Given the description of an element on the screen output the (x, y) to click on. 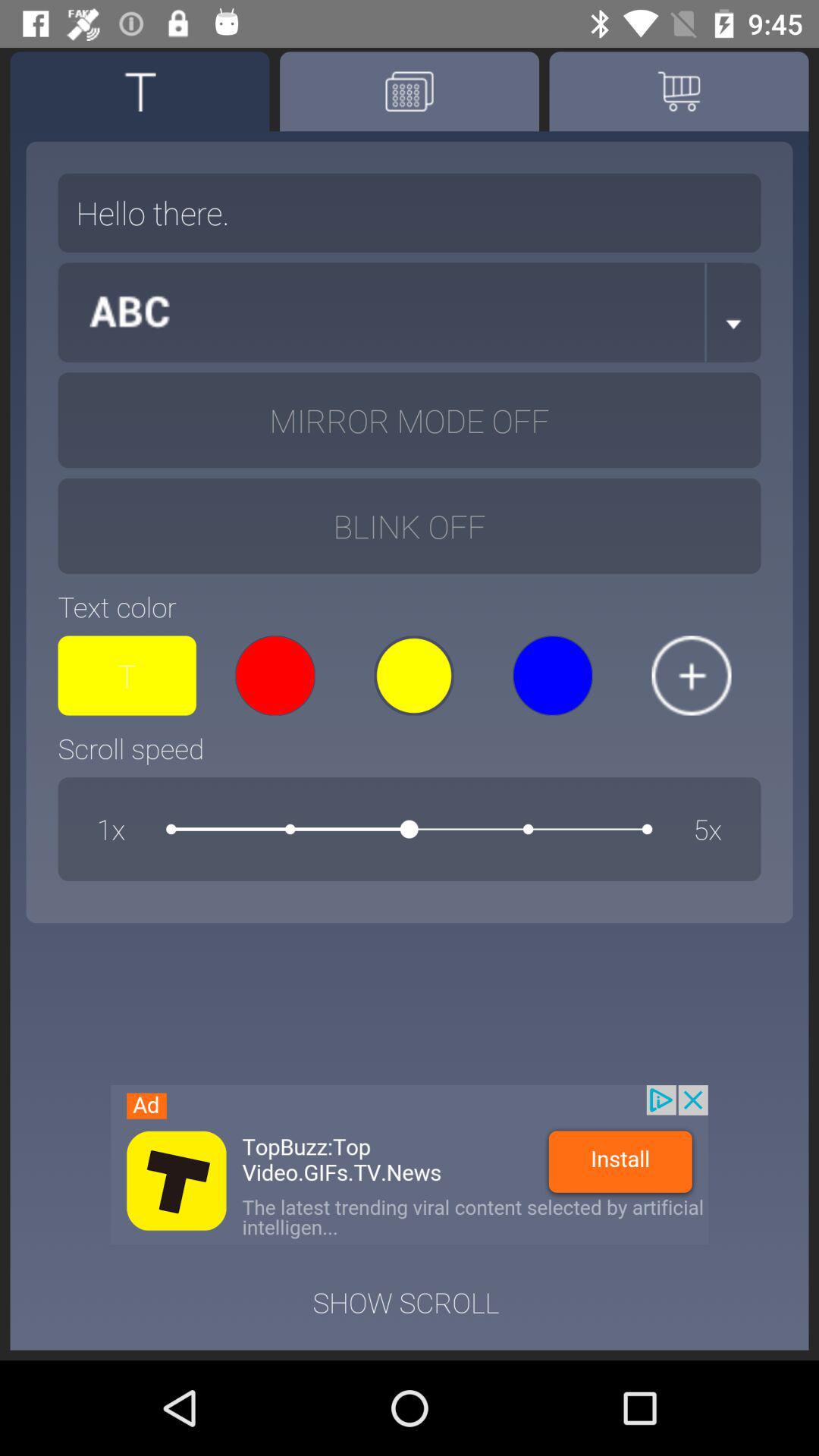
tattie (139, 91)
